Given the description of an element on the screen output the (x, y) to click on. 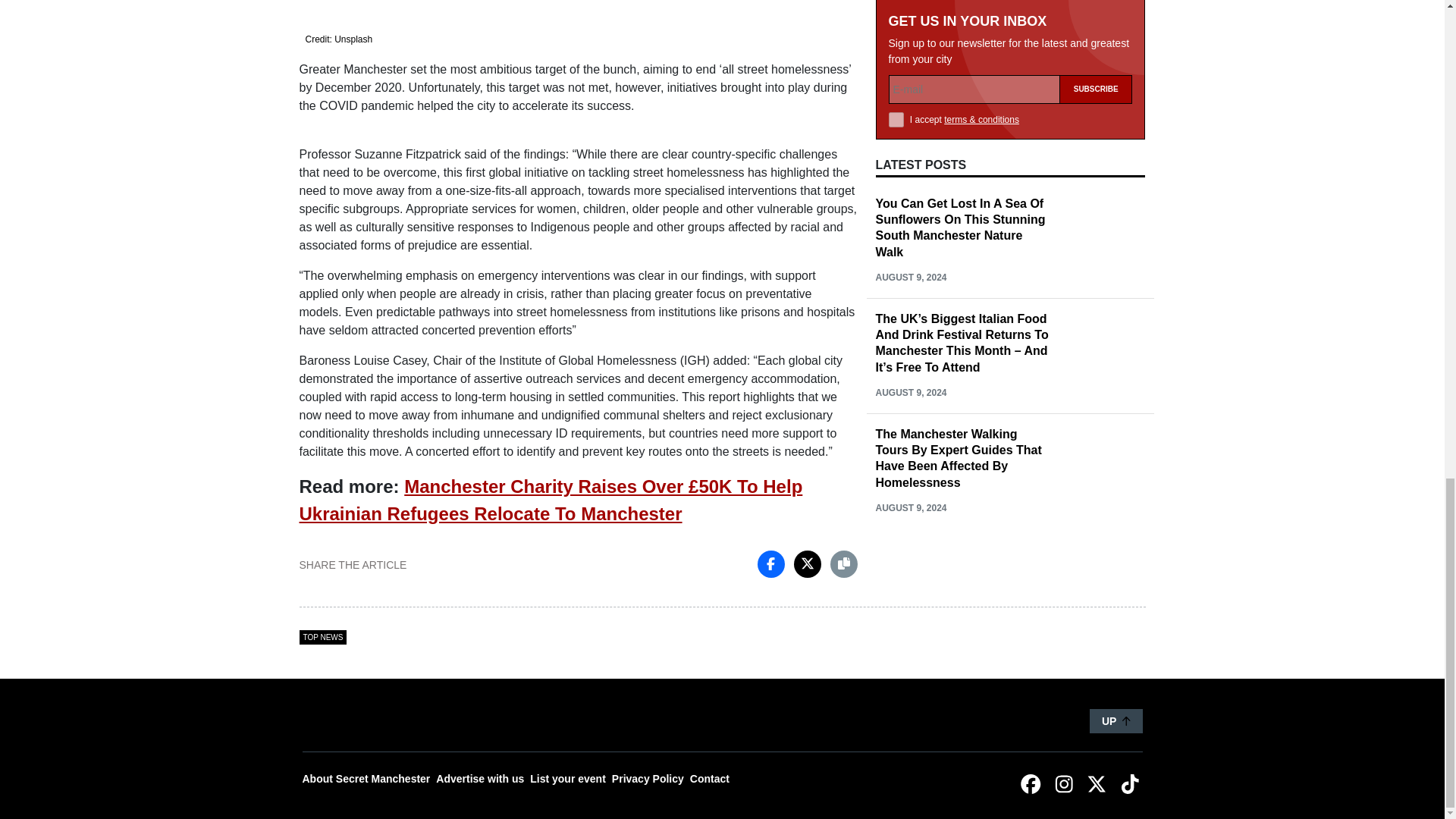
Subscribe (1095, 5)
TOP NEWS (322, 636)
1 (896, 28)
UP (1115, 721)
AUGUST 9, 2024 (910, 185)
AUGUST 9, 2024 (910, 416)
AUGUST 9, 2024 (910, 300)
Subscribe (1095, 5)
